Given the description of an element on the screen output the (x, y) to click on. 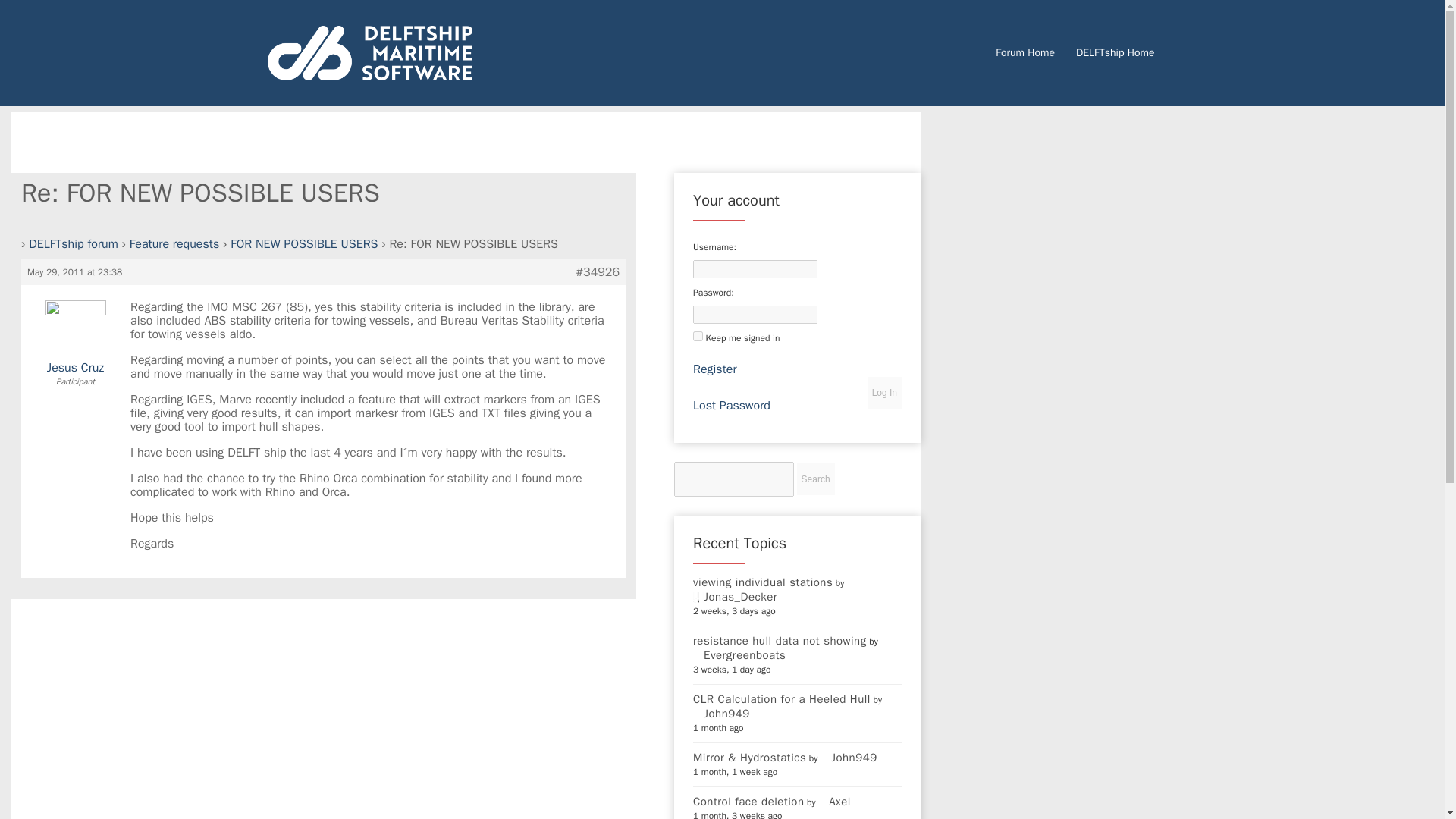
View John949's profile (721, 607)
forever (698, 230)
Furio Fabbri (791, 739)
John949 (721, 607)
Feature requests (174, 137)
Search (815, 373)
View Axel's profile (834, 694)
Evergreenboats (739, 549)
CLR Calculation for a Heeled Hull (781, 592)
John949 (849, 651)
DELFTship forum (73, 137)
View Furio Fabbri's profile (791, 739)
View Jesus Cruz's profile (75, 239)
kmou.mns (737, 811)
FOR NEW POSSIBLE USERS (303, 137)
